Given the description of an element on the screen output the (x, y) to click on. 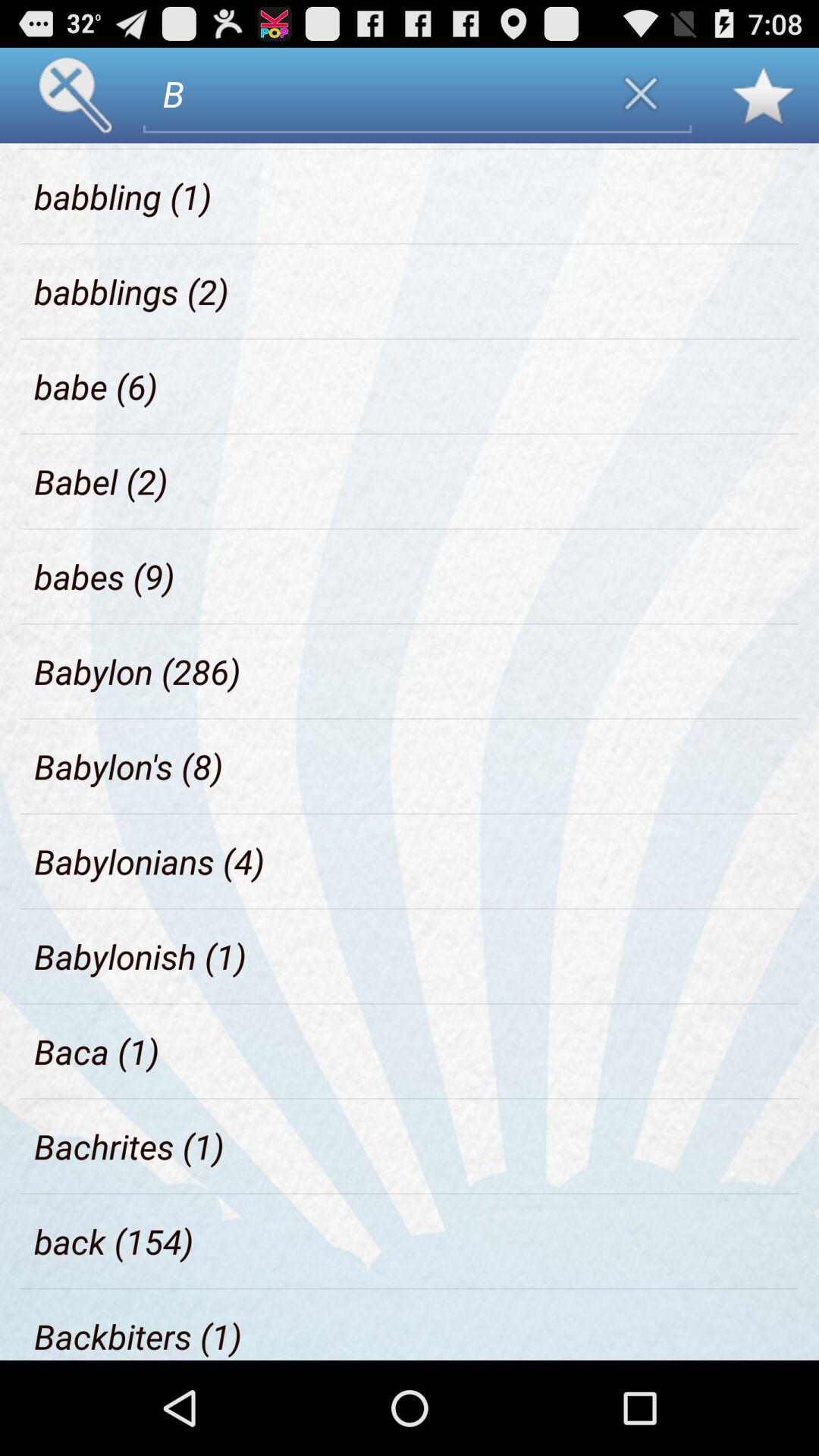
select the b (369, 93)
